Given the description of an element on the screen output the (x, y) to click on. 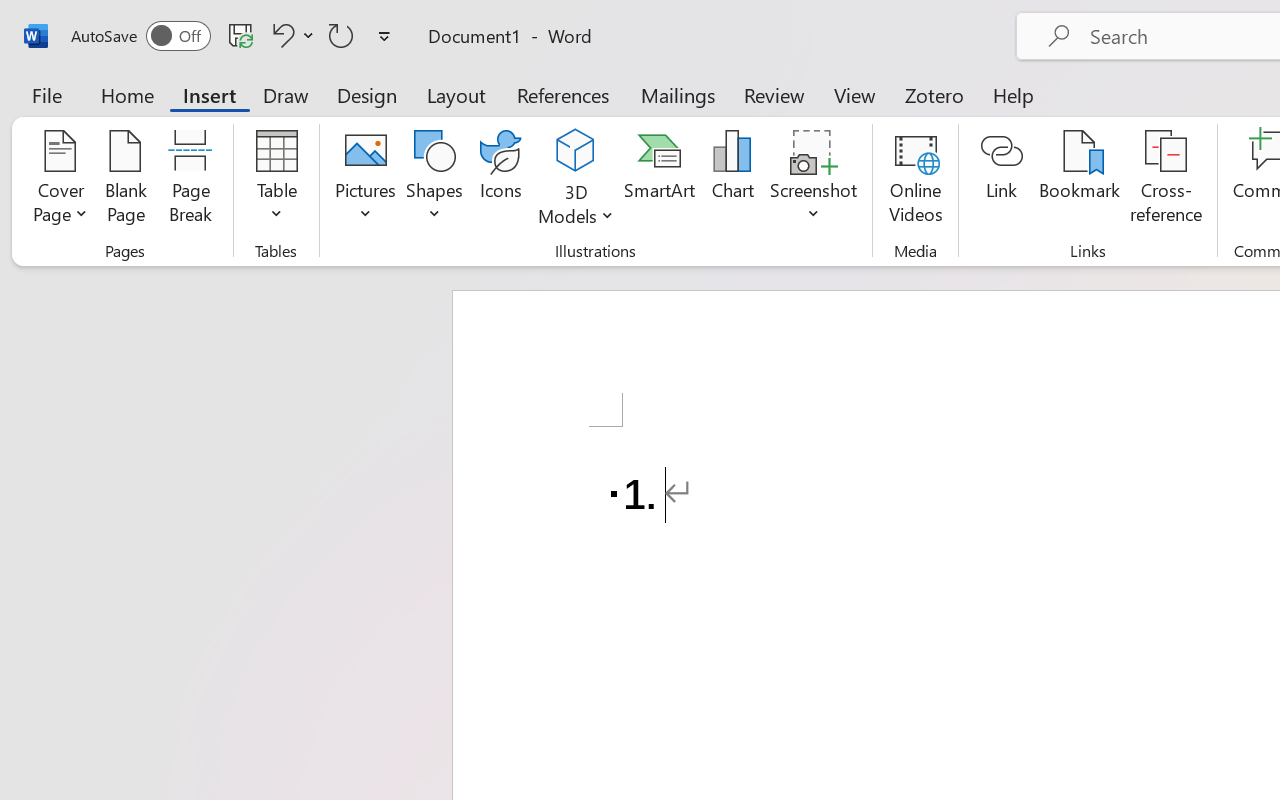
Undo Number Default (280, 35)
Cross-reference... (1165, 179)
Cover Page (60, 179)
Chart... (732, 179)
Page Break (190, 179)
Undo Number Default (290, 35)
